Given the description of an element on the screen output the (x, y) to click on. 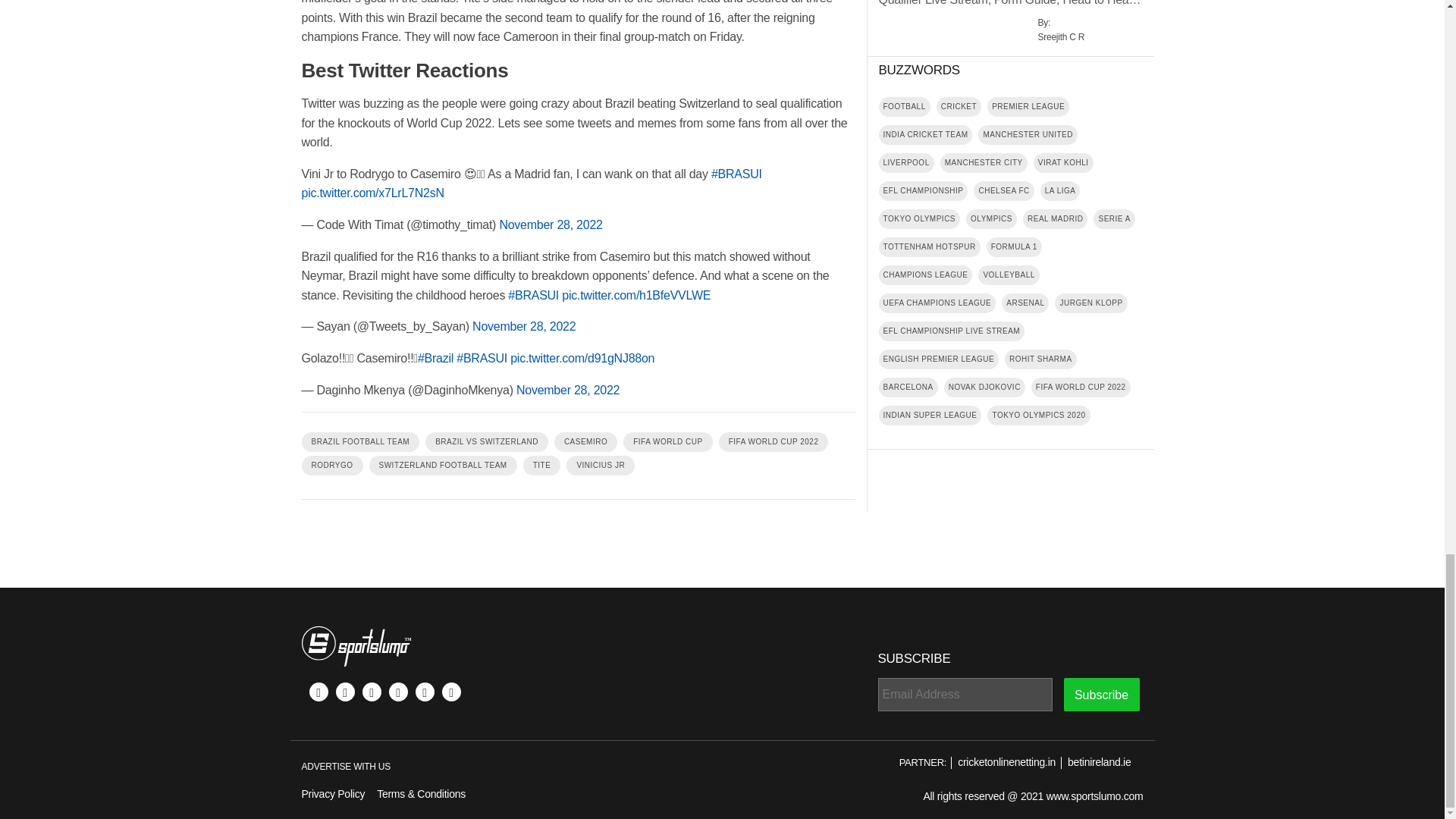
Subscribe (1100, 694)
